Given the description of an element on the screen output the (x, y) to click on. 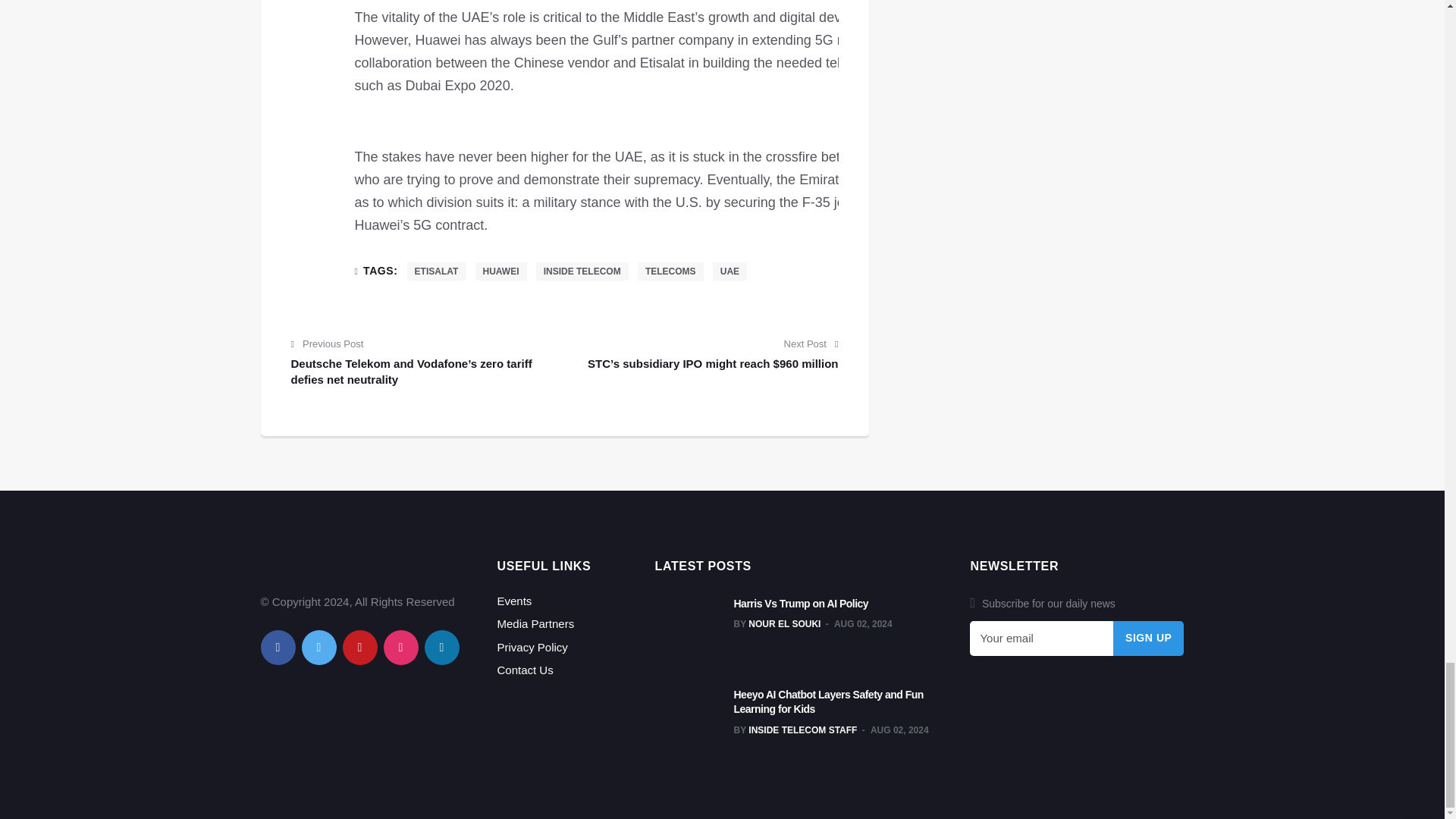
Sign Up (1149, 638)
